Given the description of an element on the screen output the (x, y) to click on. 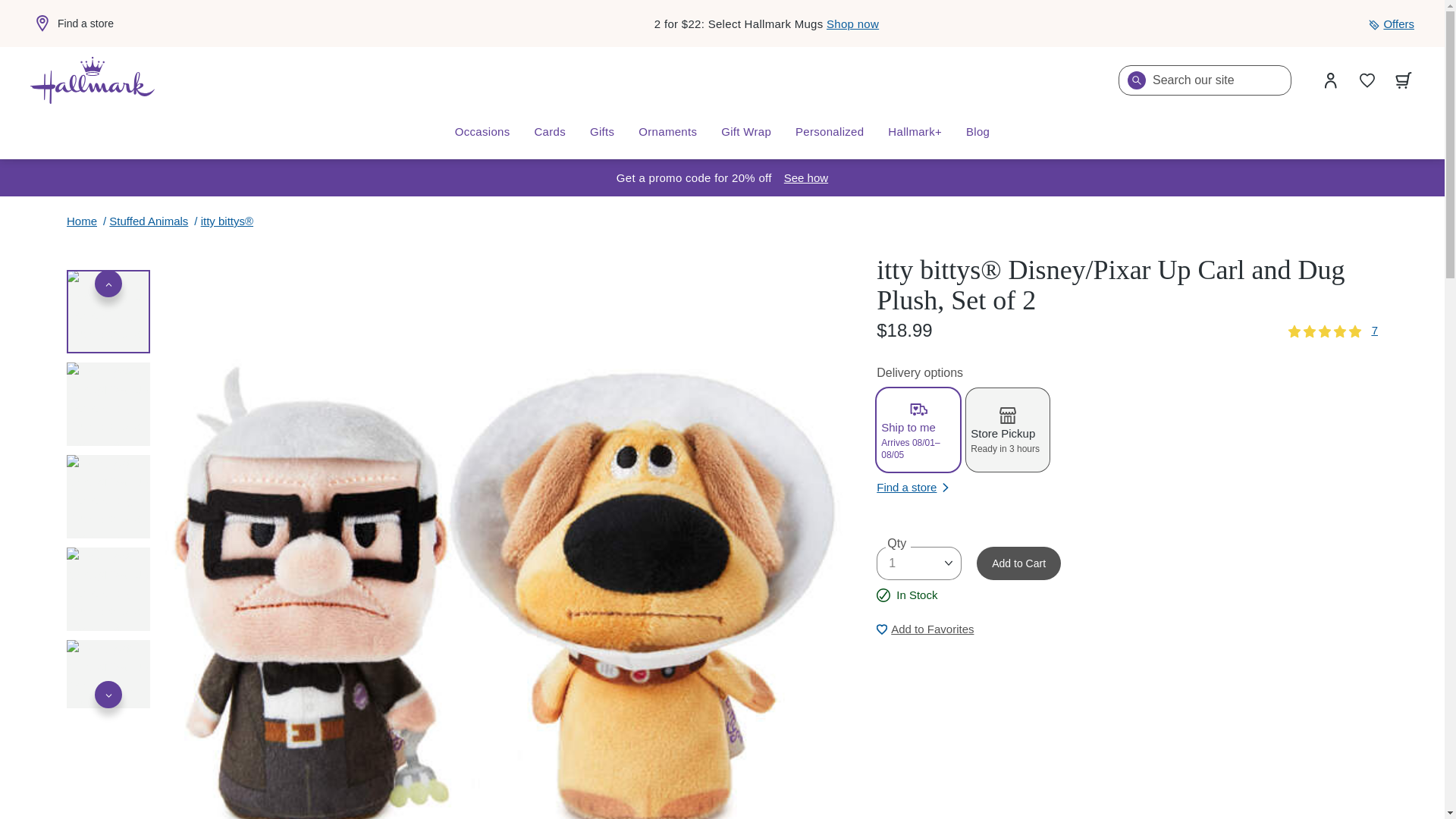
Wish List (1367, 80)
Home page (92, 80)
Find a store (71, 23)
Open shipping dates modal (806, 177)
View your cart (1404, 80)
Previous item (108, 283)
Shop now (853, 22)
Search (1135, 80)
Offers (1390, 23)
Next item (108, 694)
